Given the description of an element on the screen output the (x, y) to click on. 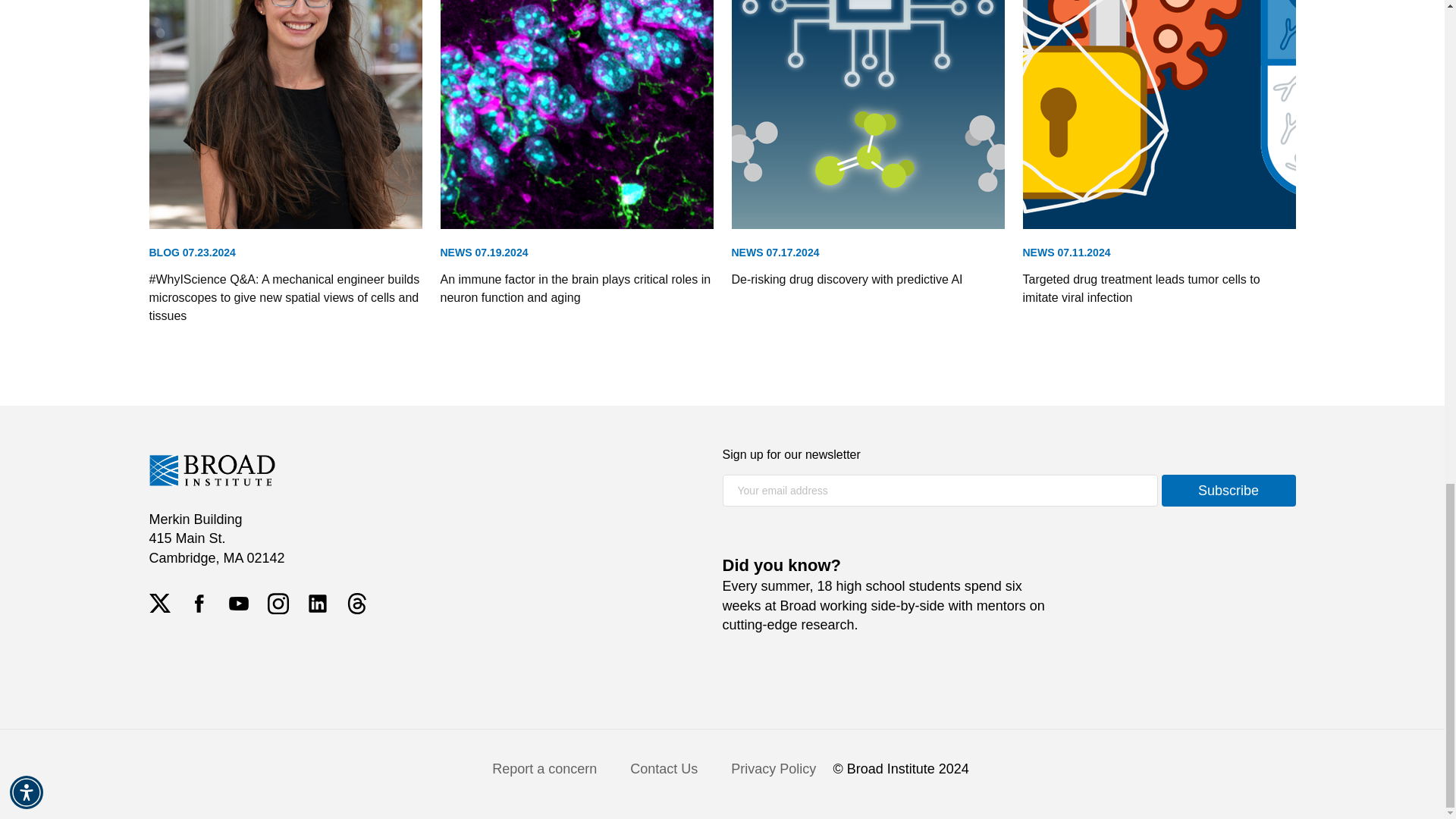
Subscribe (1228, 490)
